Given the description of an element on the screen output the (x, y) to click on. 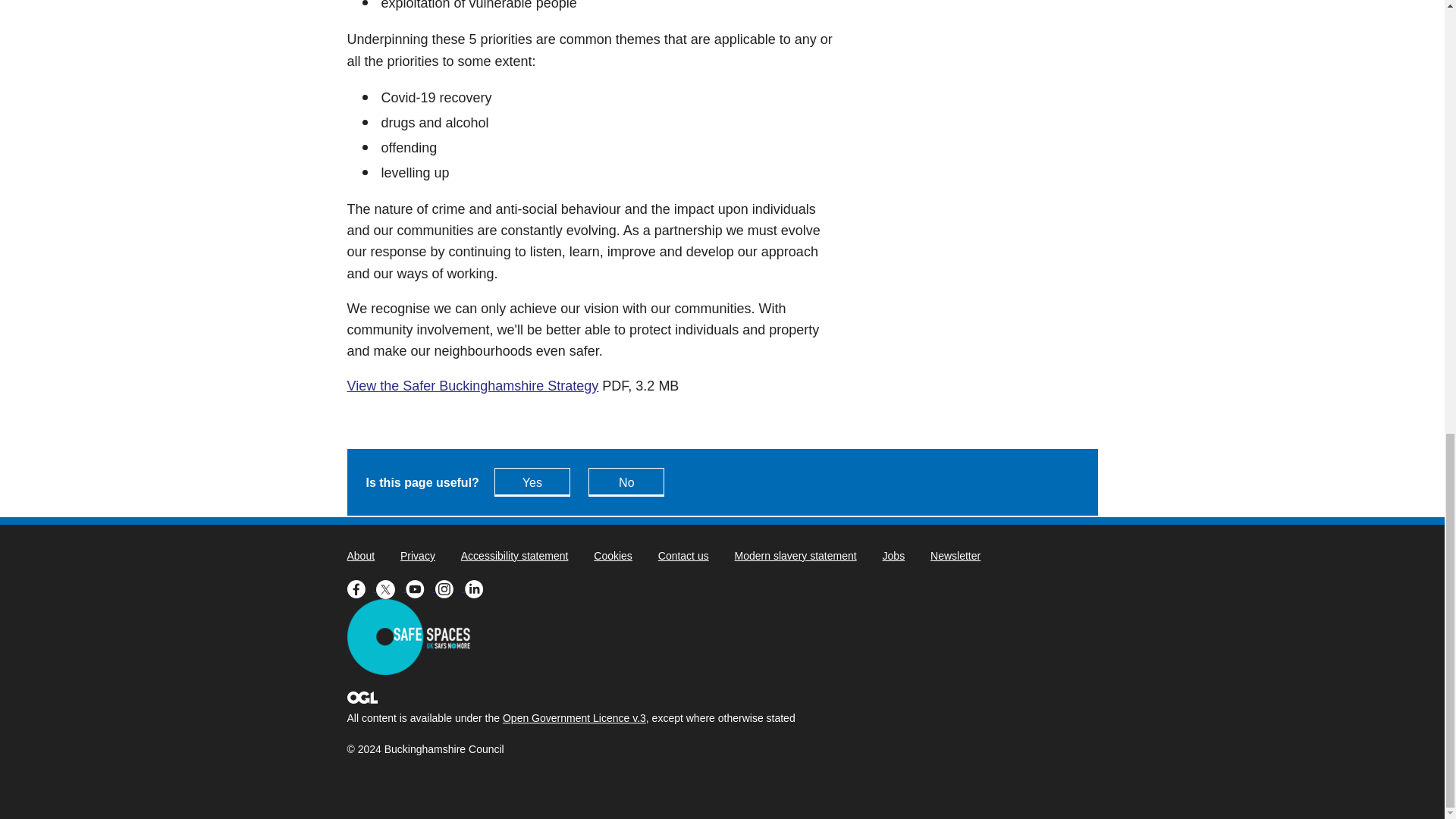
Yes (532, 481)
View the Safer Buckinghamshire Strategy (472, 385)
No (625, 481)
About (361, 555)
Open Government Licence v.3 (574, 717)
Privacy (417, 555)
Contact us (683, 555)
Cookies (612, 555)
Jobs (893, 555)
Accessibility statement (515, 555)
Modern slavery statement (796, 555)
Newsletter (954, 555)
